Given the description of an element on the screen output the (x, y) to click on. 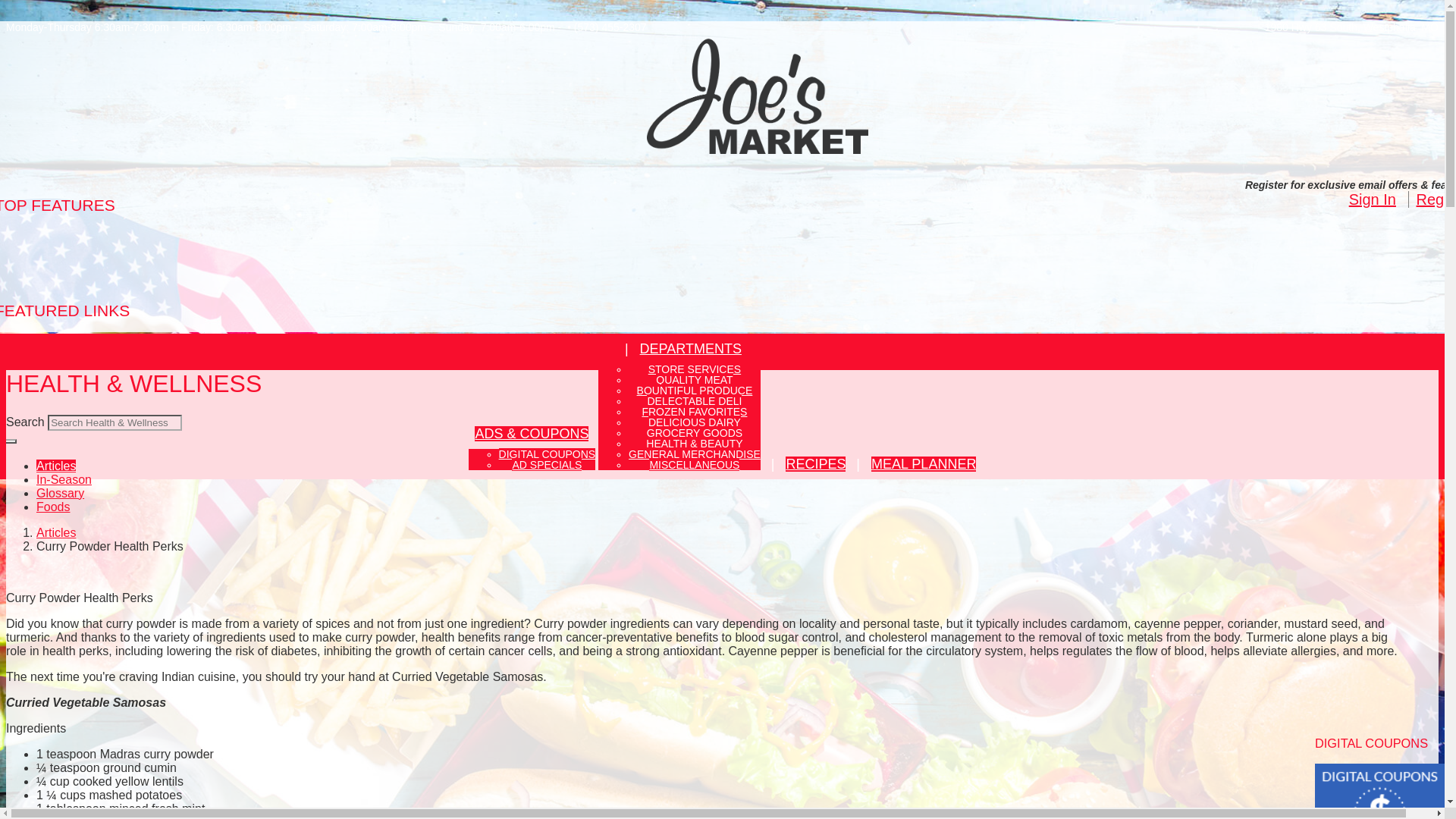
QUALITY MEAT (694, 379)
FROZEN FAVORITES (694, 411)
STORE SERVICES (694, 369)
DIGITAL COUPONS (547, 453)
GENERAL MERCHANDISE (694, 453)
Goto Digital Coupons (1379, 803)
DEPARTMENTS (690, 348)
GROCERY GOODS (694, 432)
DELECTABLE DELI (693, 400)
DELICIOUS DAIRY (694, 422)
Click to sign in to your account (1372, 199)
BOUNTIFUL PRODUCE (694, 390)
AD SPECIALS (546, 464)
Sign In (1372, 199)
